Given the description of an element on the screen output the (x, y) to click on. 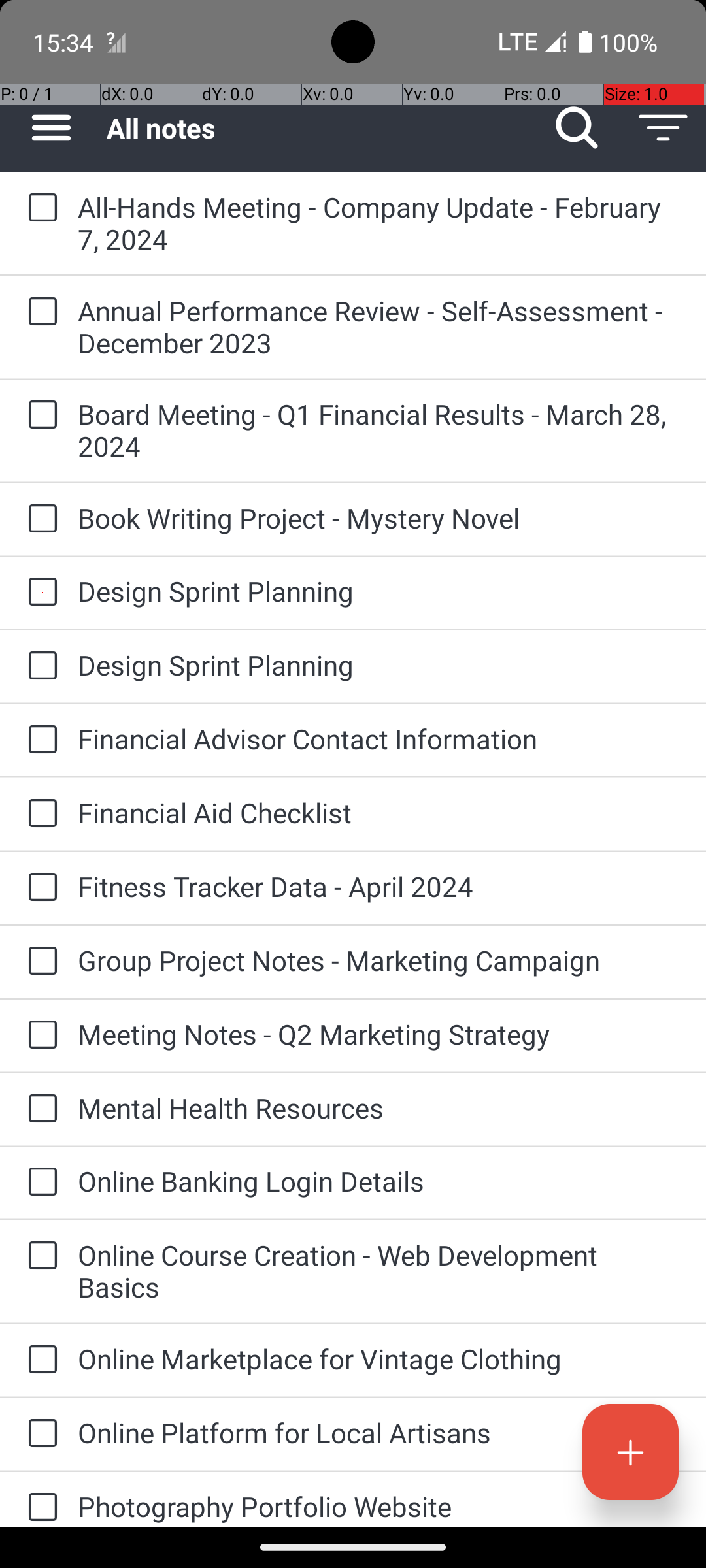
to-do: All-Hands Meeting - Company Update - February 7, 2024 Element type: android.widget.CheckBox (38, 208)
All-Hands Meeting - Company Update - February 7, 2024 Element type: android.widget.TextView (378, 222)
to-do: Board Meeting - Q1 Financial Results - March 28, 2024 Element type: android.widget.CheckBox (38, 415)
Board Meeting - Q1 Financial Results - March 28, 2024 Element type: android.widget.TextView (378, 429)
to-do: Book Writing Project - Mystery Novel Element type: android.widget.CheckBox (38, 519)
Book Writing Project - Mystery Novel Element type: android.widget.TextView (378, 517)
to-do: Design Sprint Planning Element type: android.widget.CheckBox (38, 592)
Design Sprint Planning Element type: android.widget.TextView (378, 590)
to-do: Financial Aid Checklist Element type: android.widget.CheckBox (38, 814)
Financial Aid Checklist Element type: android.widget.TextView (378, 812)
to-do: Fitness Tracker Data - April 2024 Element type: android.widget.CheckBox (38, 887)
Fitness Tracker Data - April 2024 Element type: android.widget.TextView (378, 885)
to-do: Meeting Notes - Q2 Marketing Strategy Element type: android.widget.CheckBox (38, 1035)
Meeting Notes - Q2 Marketing Strategy Element type: android.widget.TextView (378, 1033)
to-do: Mental Health Resources Element type: android.widget.CheckBox (38, 1109)
Mental Health Resources Element type: android.widget.TextView (378, 1107)
to-do: Online Banking Login Details Element type: android.widget.CheckBox (38, 1182)
Online Banking Login Details Element type: android.widget.TextView (378, 1180)
to-do: Online Course Creation - Web Development Basics Element type: android.widget.CheckBox (38, 1256)
Online Course Creation - Web Development Basics Element type: android.widget.TextView (378, 1270)
to-do: Online Marketplace for Vintage Clothing Element type: android.widget.CheckBox (38, 1360)
Online Marketplace for Vintage Clothing Element type: android.widget.TextView (378, 1358)
to-do: Online Platform for Local Artisans Element type: android.widget.CheckBox (38, 1434)
Online Platform for Local Artisans Element type: android.widget.TextView (378, 1432)
to-do: Photography Portfolio Website Element type: android.widget.CheckBox (38, 1498)
Photography Portfolio Website Element type: android.widget.TextView (378, 1505)
